Given the description of an element on the screen output the (x, y) to click on. 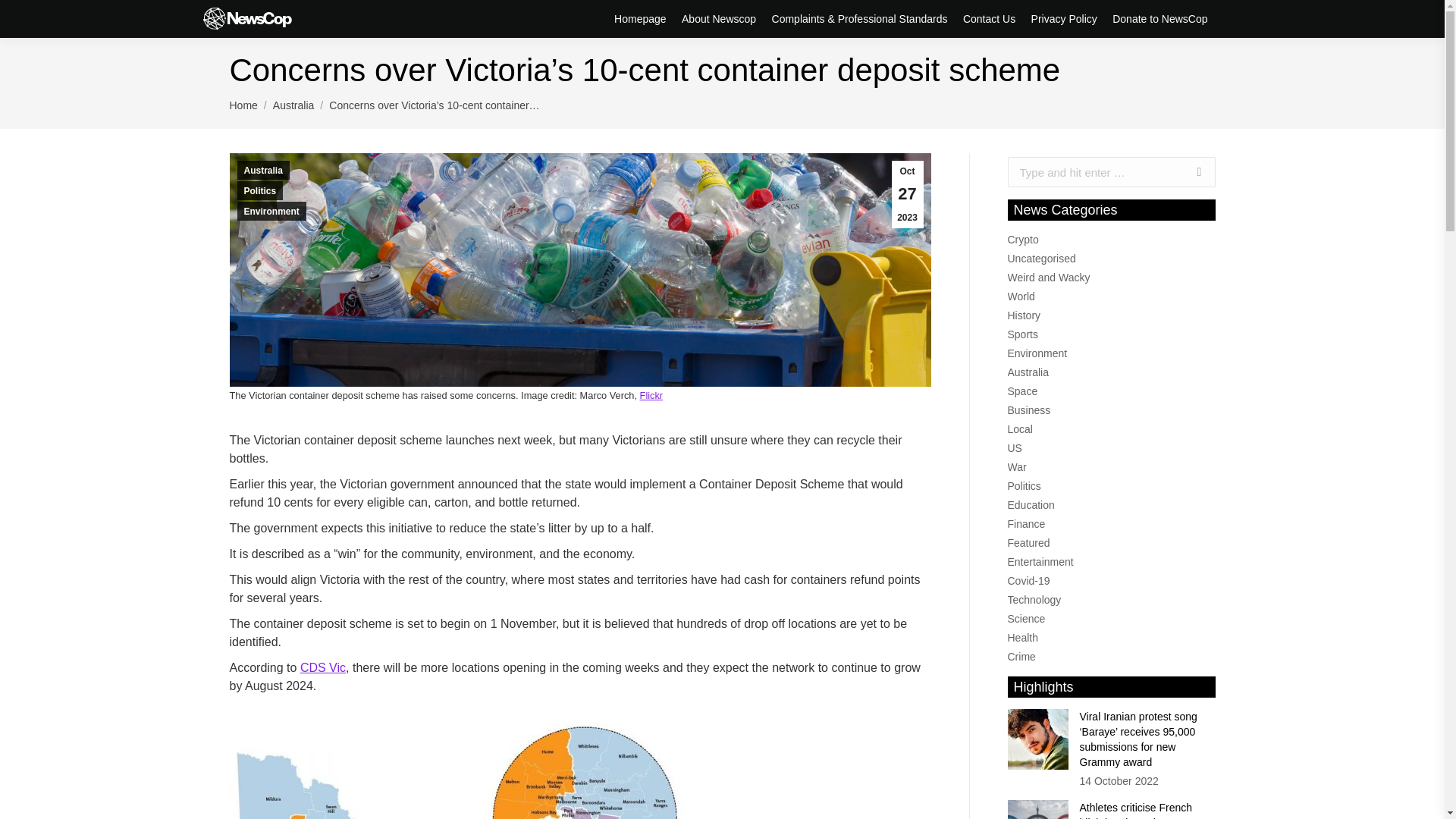
Homepage (640, 18)
Privacy Policy (1063, 18)
Home (242, 105)
About Newscop (718, 18)
Go! (1191, 172)
Australia (293, 105)
CDS Vic Map (456, 770)
Go! (1191, 172)
Contact Us (988, 18)
